Given the description of an element on the screen output the (x, y) to click on. 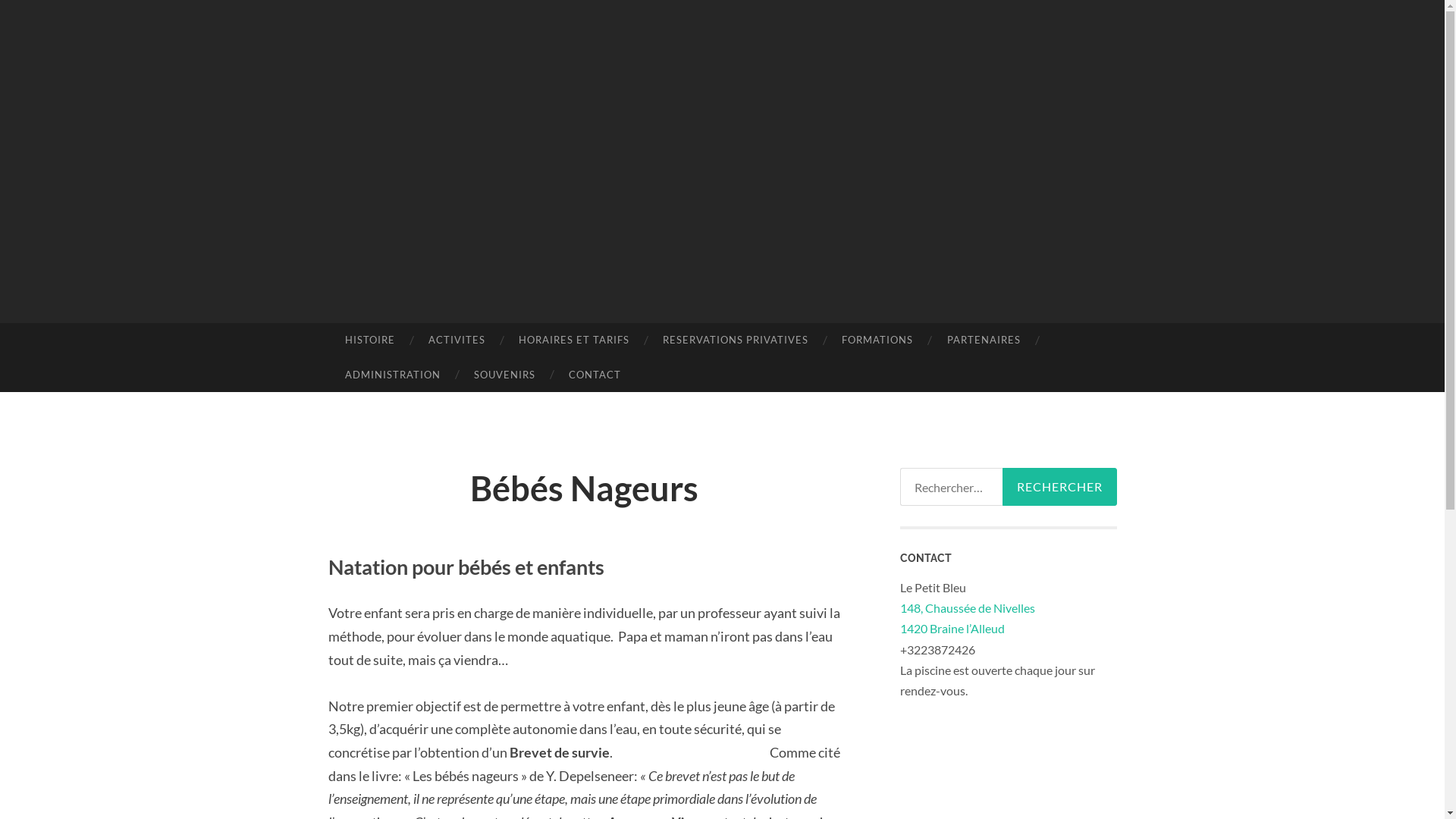
ADMINISTRATION Element type: text (391, 374)
AU COURS D'EAU ASBL Element type: text (792, 244)
SOUVENIRS Element type: text (504, 374)
CONTACT Element type: text (594, 374)
FORMATIONS Element type: text (877, 340)
HORAIRES ET TARIFS Element type: text (574, 340)
Rechercher Element type: text (1059, 486)
HISTOIRE Element type: text (369, 340)
ACTIVITES Element type: text (456, 340)
PARTENAIRES Element type: text (982, 340)
RESERVATIONS PRIVATIVES Element type: text (735, 340)
